Given the description of an element on the screen output the (x, y) to click on. 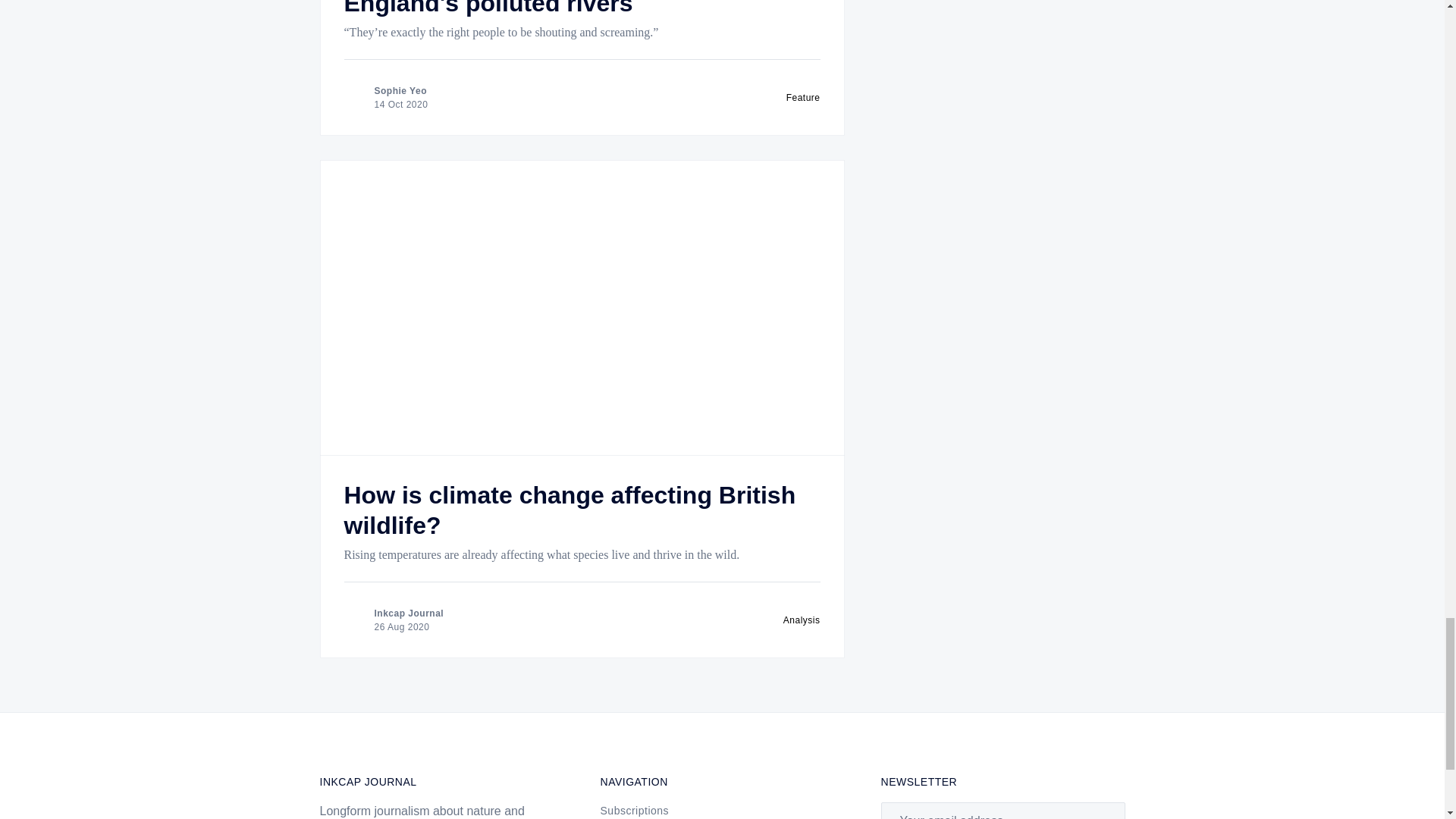
How is climate change affecting British wildlife? (569, 509)
Feature (803, 97)
The wild swimmers fighting for England's polluted rivers (522, 8)
Sophie Yeo (400, 90)
